Given the description of an element on the screen output the (x, y) to click on. 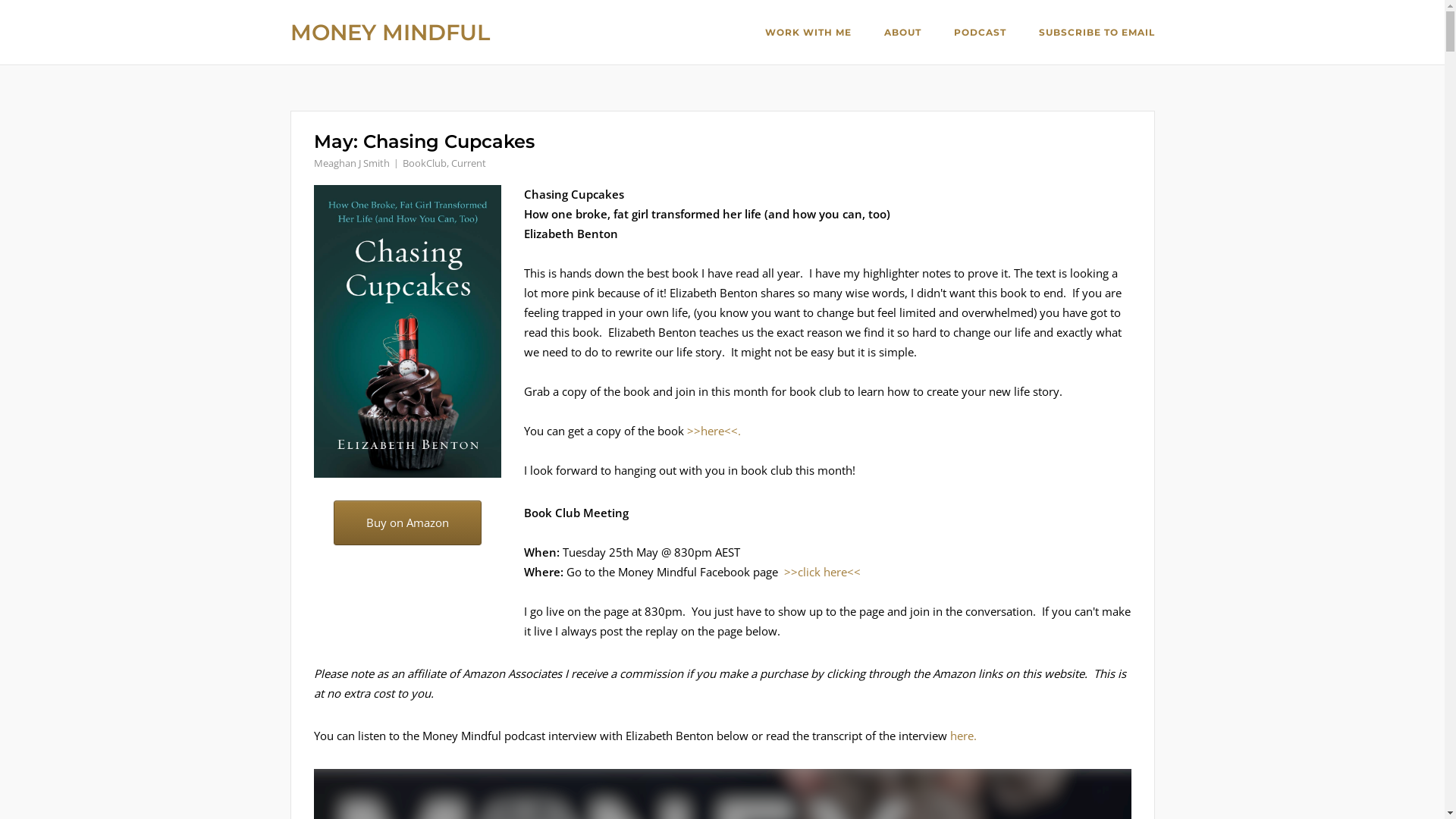
WORK WITH ME Element type: text (807, 33)
>>click here<< Element type: text (822, 571)
BookClub Element type: text (423, 162)
here. Element type: text (962, 735)
SUBSCRIBE TO EMAIL Element type: text (1096, 33)
Current Element type: text (467, 162)
ABOUT Element type: text (902, 32)
Buy on Amazon Element type: text (407, 522)
>>here<<. Element type: text (713, 430)
PODCAST Element type: text (979, 32)
May: Chasing Cupcakes Element type: text (423, 141)
MONEY MINDFUL Element type: text (389, 31)
Meaghan J Smith Element type: text (351, 162)
